Given the description of an element on the screen output the (x, y) to click on. 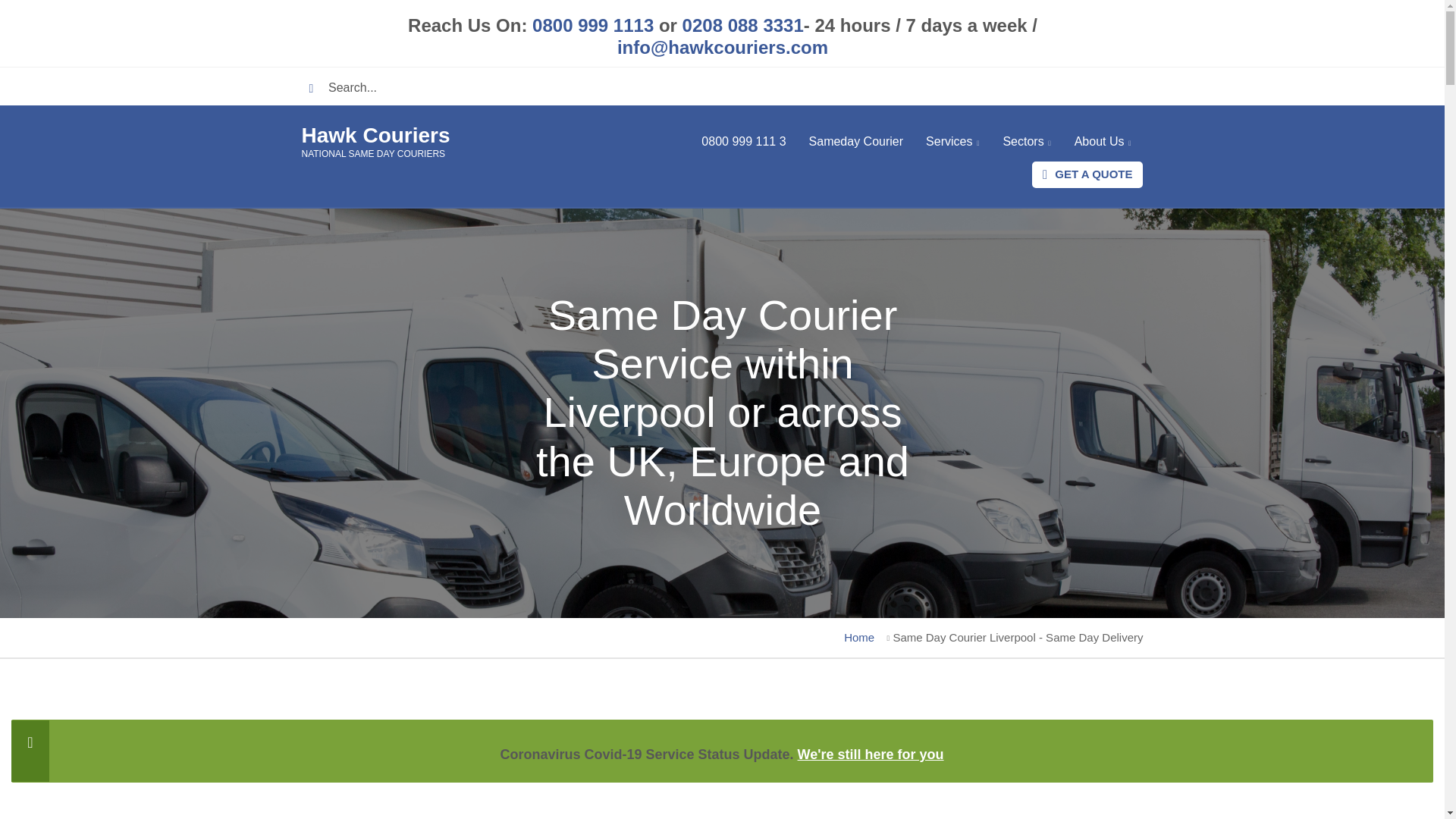
Search (316, 88)
Sameday Courier (856, 142)
0208 088 3331 (742, 25)
Home (375, 135)
youtube (1123, 86)
Reviews Widget (721, 804)
0800 999 111 3 (743, 142)
0800 999 1113 (592, 25)
linkedin (1086, 86)
